Given the description of an element on the screen output the (x, y) to click on. 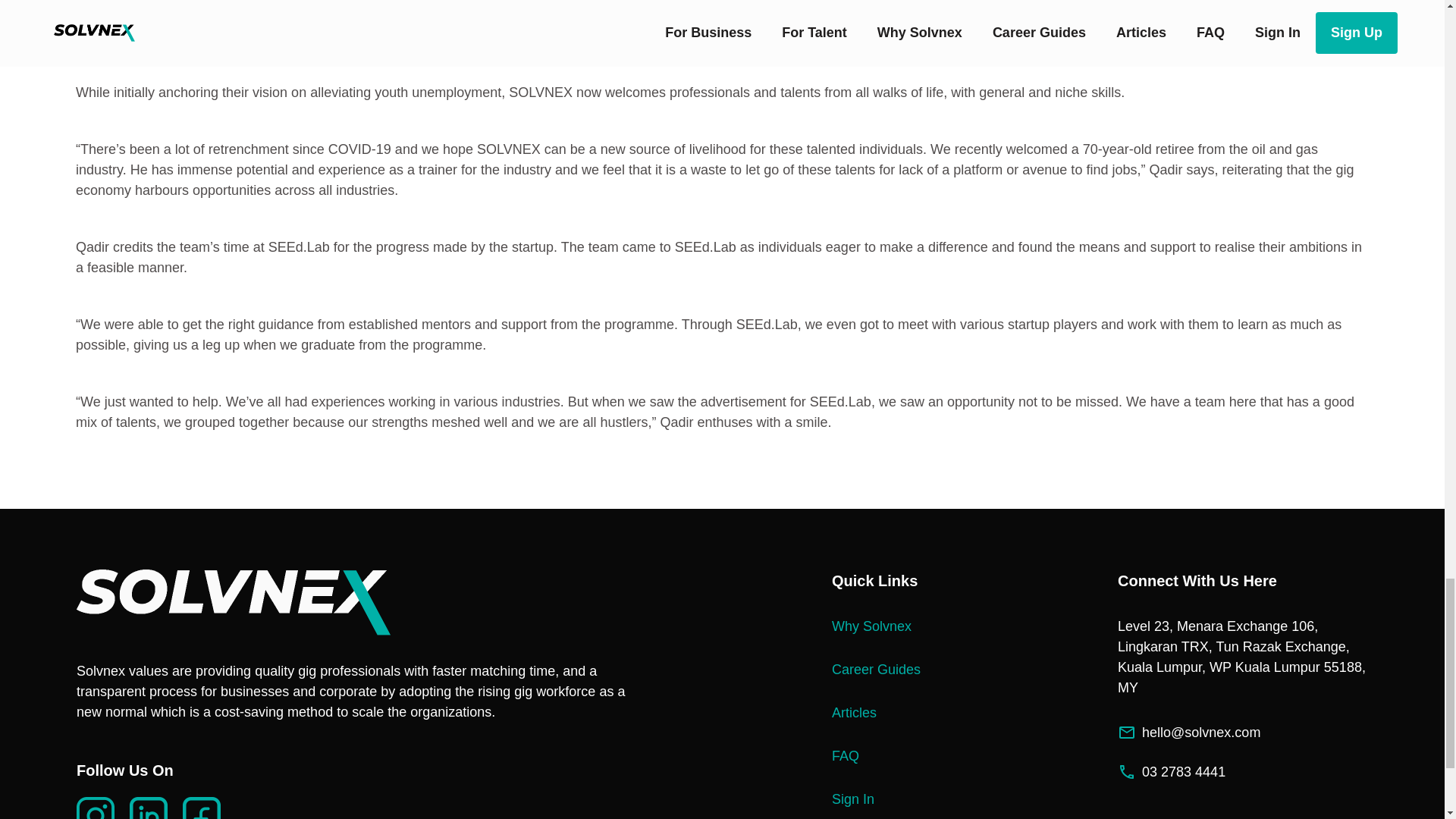
FAQ (903, 756)
03 2783 4441 (1243, 771)
Career Guides (903, 670)
Articles (903, 711)
Sign In (903, 798)
Why Solvnex (903, 625)
